Given the description of an element on the screen output the (x, y) to click on. 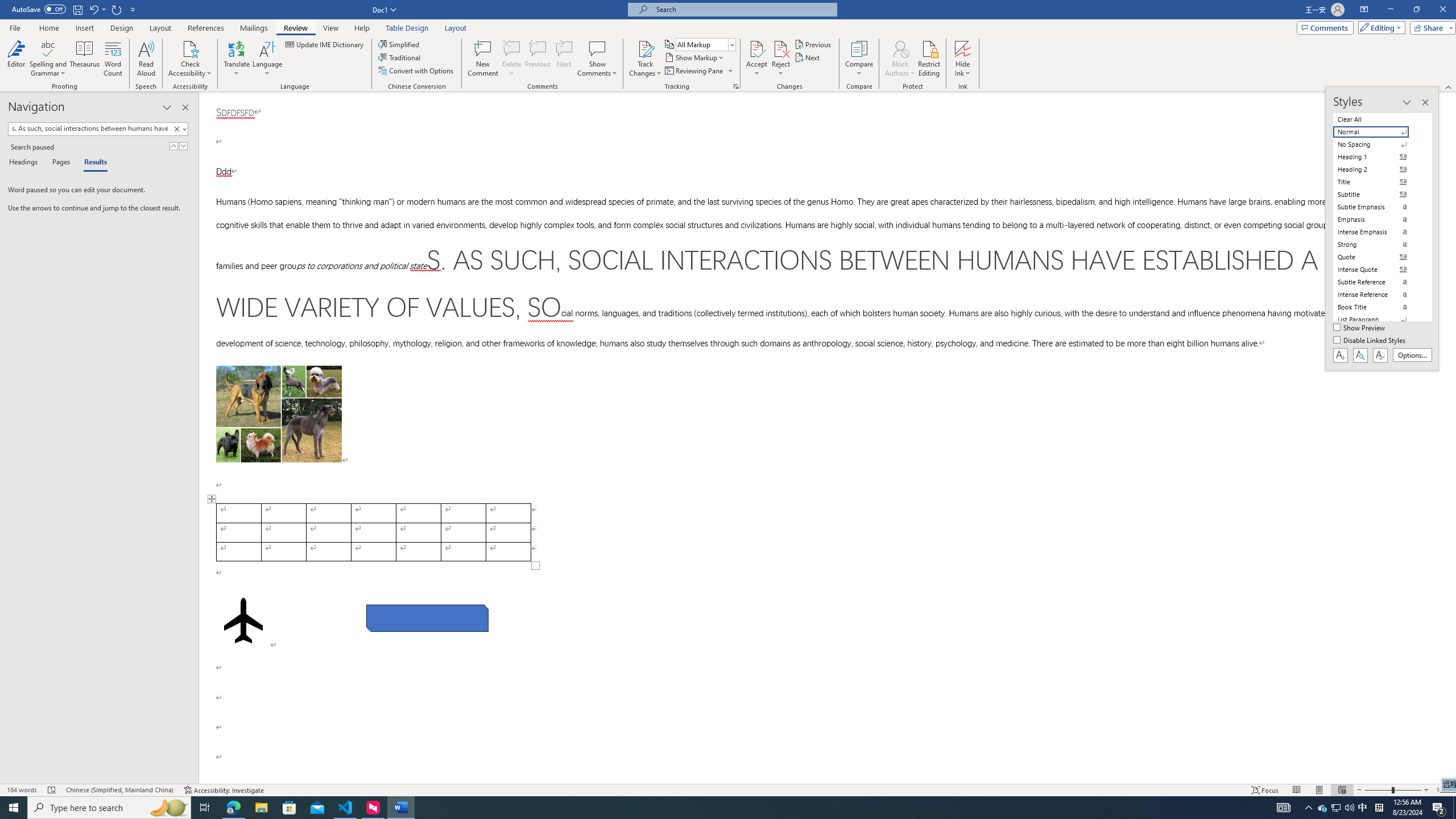
Word Count 184 words (22, 790)
Strong (1377, 244)
Show Preview (1360, 328)
Clear All (1377, 119)
Repeat Style (117, 9)
Hide Ink (962, 58)
Check Accessibility (189, 48)
Delete (511, 58)
